Given the description of an element on the screen output the (x, y) to click on. 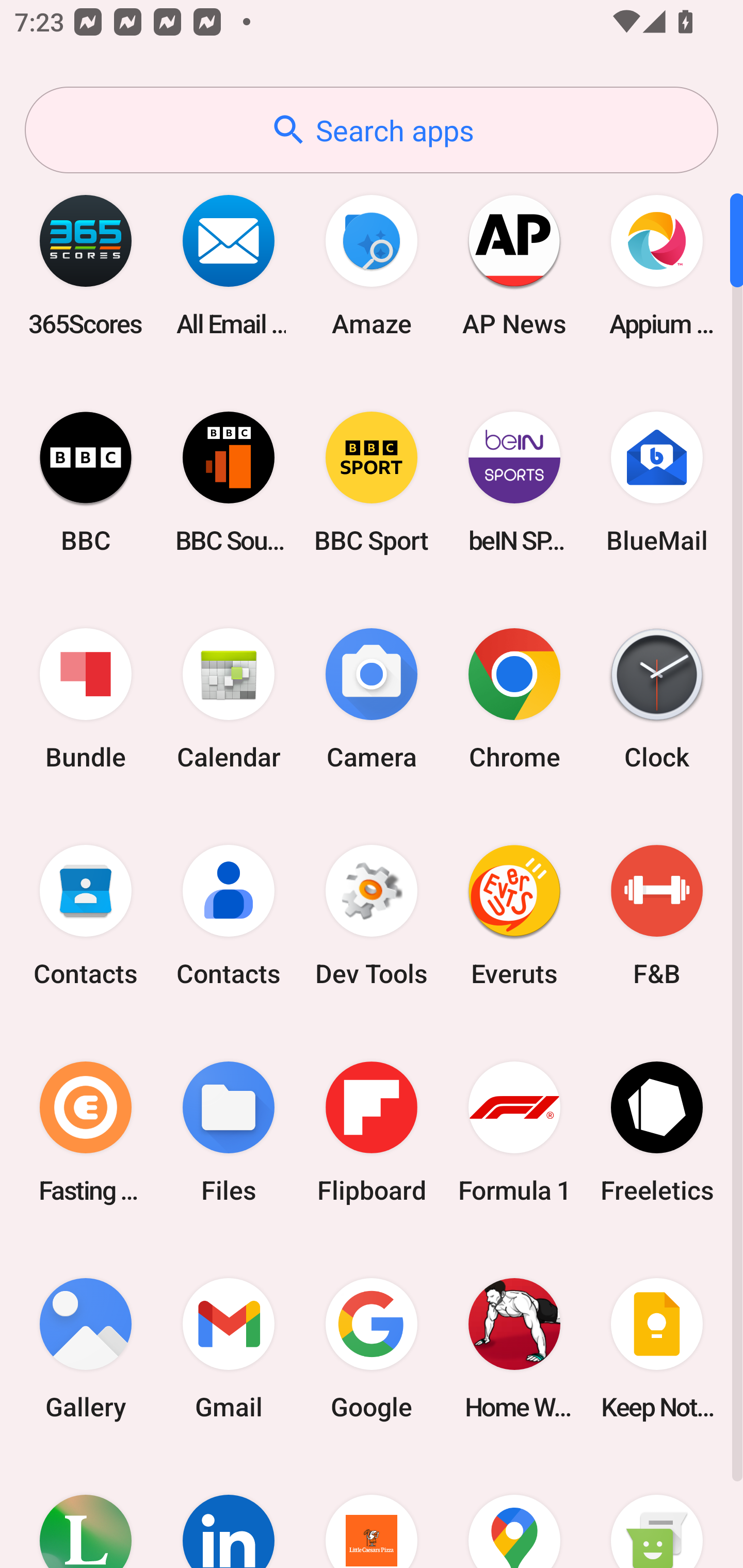
  Search apps (371, 130)
365Scores (85, 264)
All Email Connect (228, 264)
Amaze (371, 264)
AP News (514, 264)
Appium Settings (656, 264)
BBC (85, 482)
BBC Sounds (228, 482)
BBC Sport (371, 482)
beIN SPORTS (514, 482)
BlueMail (656, 482)
Bundle (85, 699)
Calendar (228, 699)
Camera (371, 699)
Chrome (514, 699)
Clock (656, 699)
Contacts (85, 915)
Contacts (228, 915)
Dev Tools (371, 915)
Everuts (514, 915)
F&B (656, 915)
Fasting Coach (85, 1131)
Files (228, 1131)
Flipboard (371, 1131)
Formula 1 (514, 1131)
Freeletics (656, 1131)
Gallery (85, 1348)
Gmail (228, 1348)
Google (371, 1348)
Home Workout (514, 1348)
Keep Notes (656, 1348)
Lifesum (85, 1512)
LinkedIn (228, 1512)
Little Caesars Pizza (371, 1512)
Maps (514, 1512)
Messaging (656, 1512)
